Given the description of an element on the screen output the (x, y) to click on. 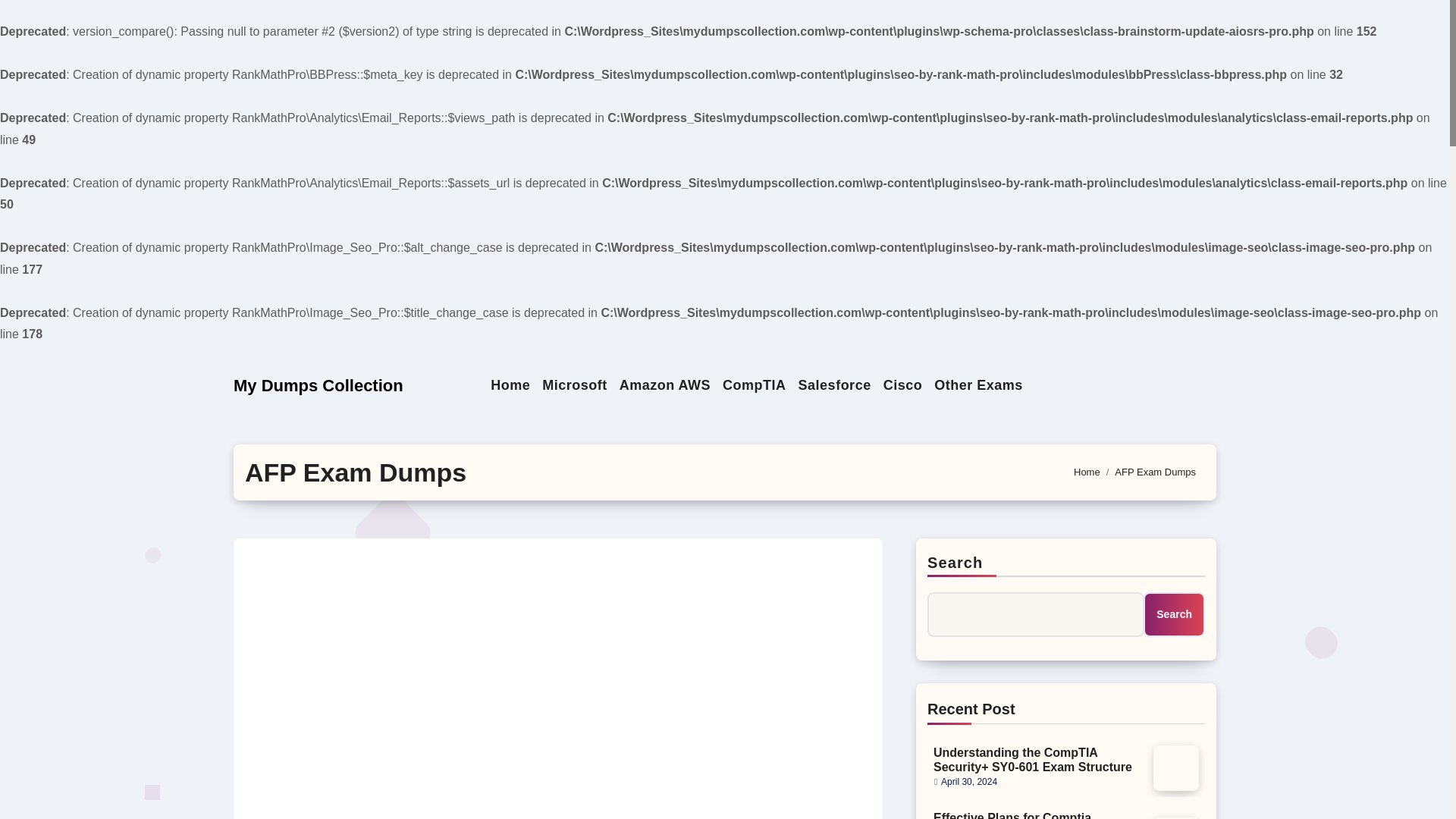
My Dumps Collection (317, 384)
Salesforce (834, 384)
Cisco (902, 384)
CompTIA (754, 384)
Other Exams (978, 384)
Home (509, 384)
Amazon AWS (664, 384)
April 30, 2024 (968, 781)
Home (509, 384)
Salesforce (834, 384)
Amazon AWS (664, 384)
Home (1087, 471)
Microsoft (573, 384)
Microsoft (573, 384)
Other Exams (978, 384)
